Given the description of an element on the screen output the (x, y) to click on. 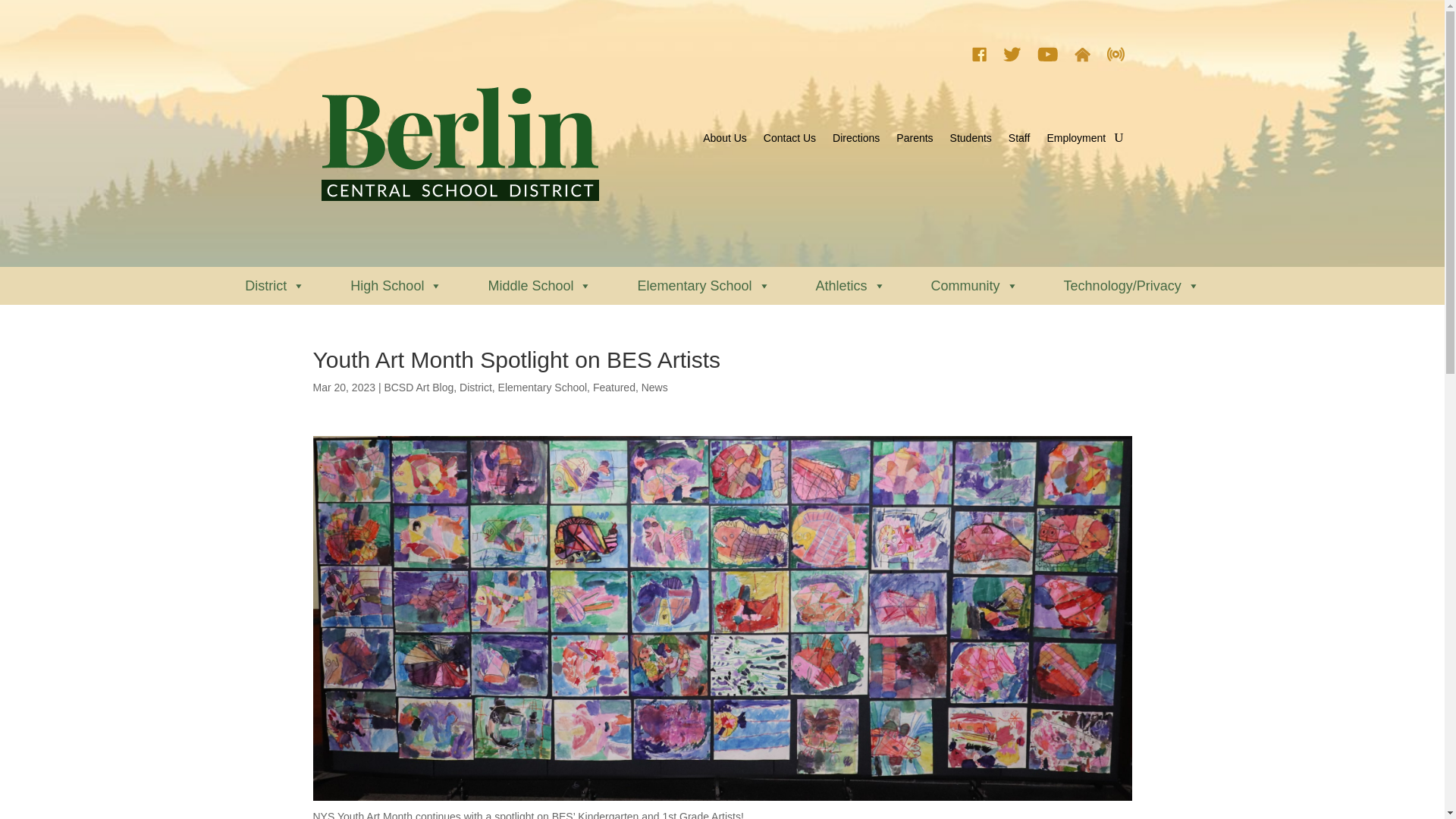
District (274, 285)
